Given the description of an element on the screen output the (x, y) to click on. 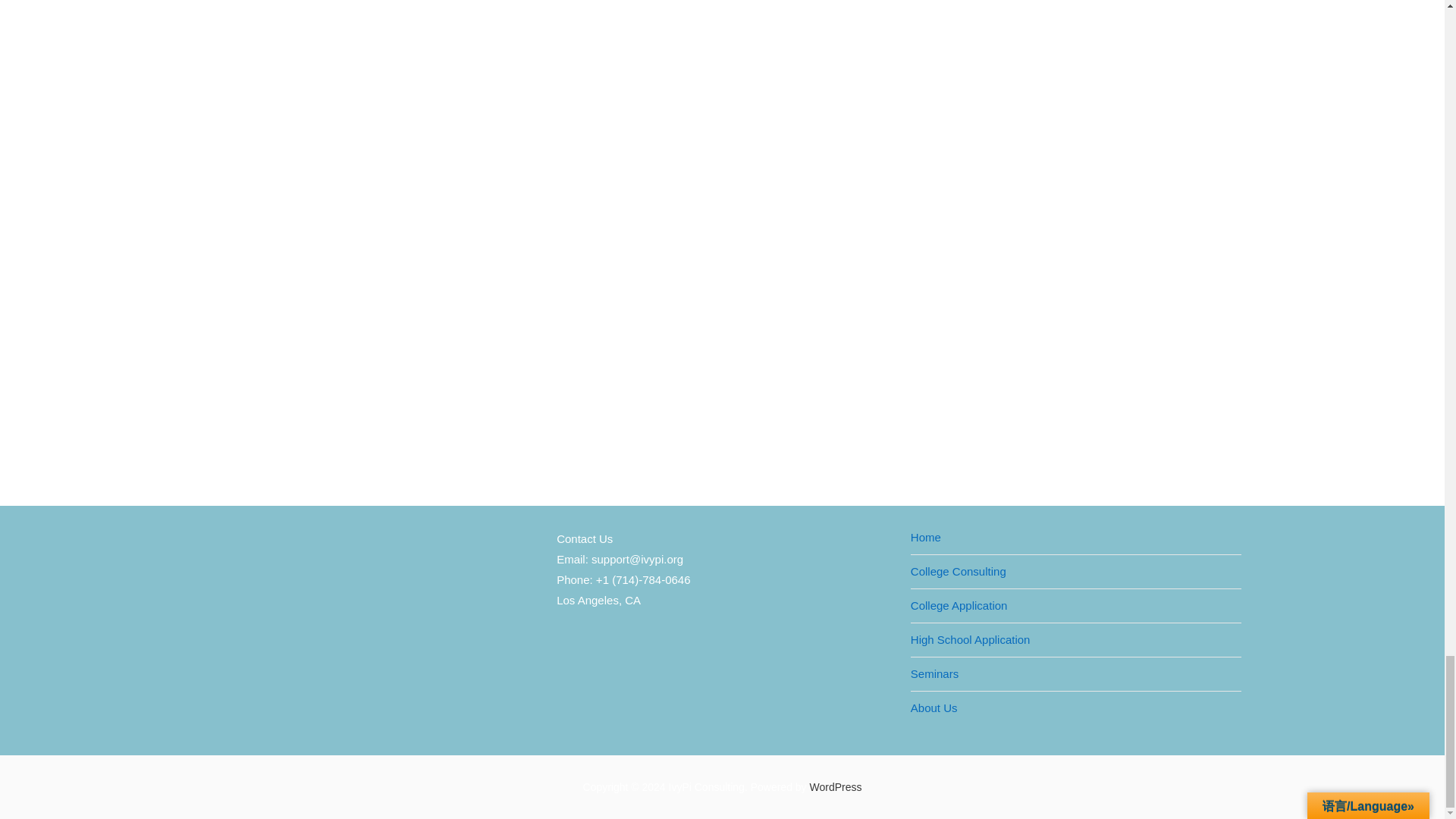
College Application (959, 605)
College Consulting (958, 571)
Submit (388, 144)
Home (925, 537)
